Given the description of an element on the screen output the (x, y) to click on. 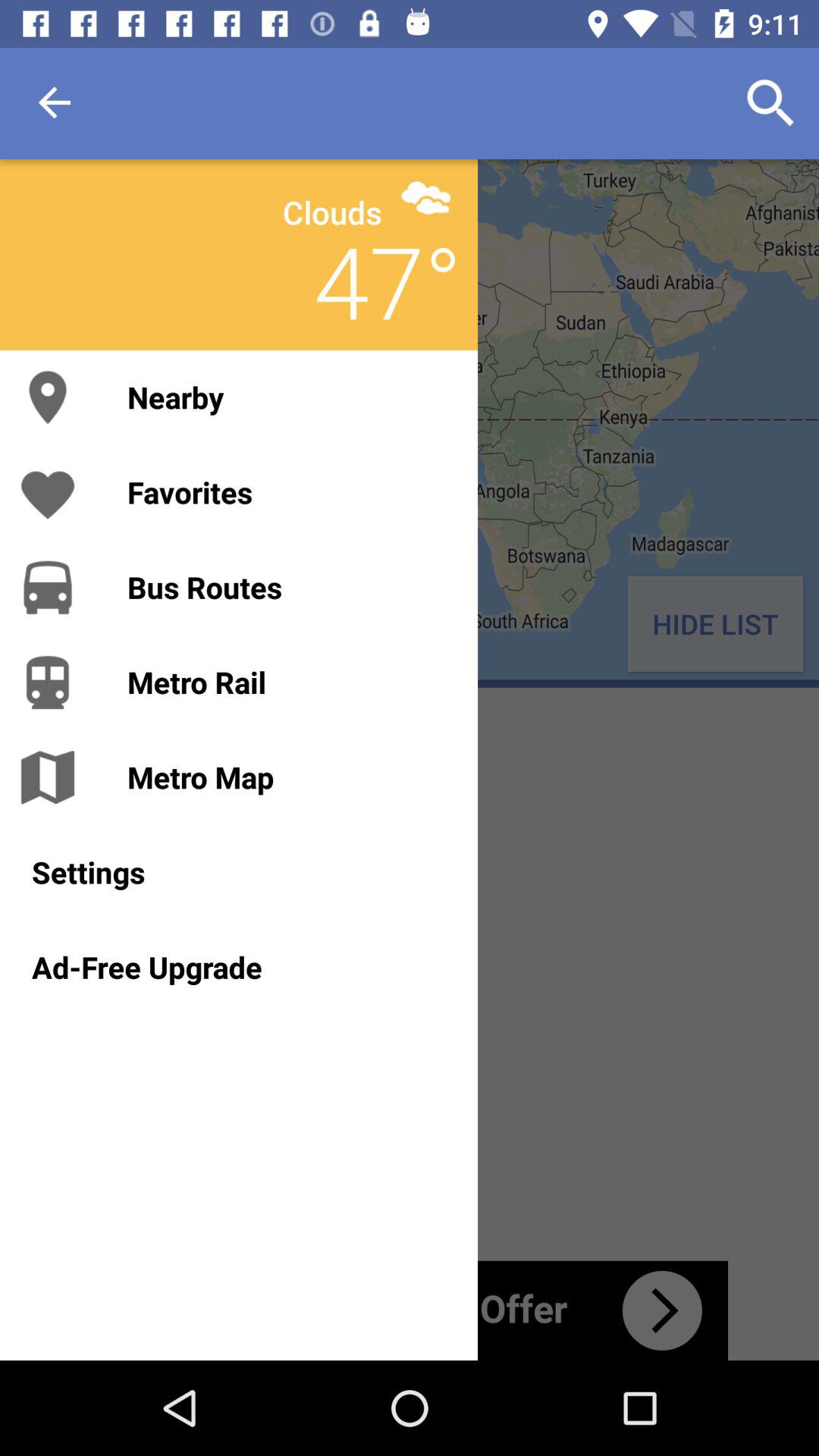
scroll to favorites (286, 492)
